Given the description of an element on the screen output the (x, y) to click on. 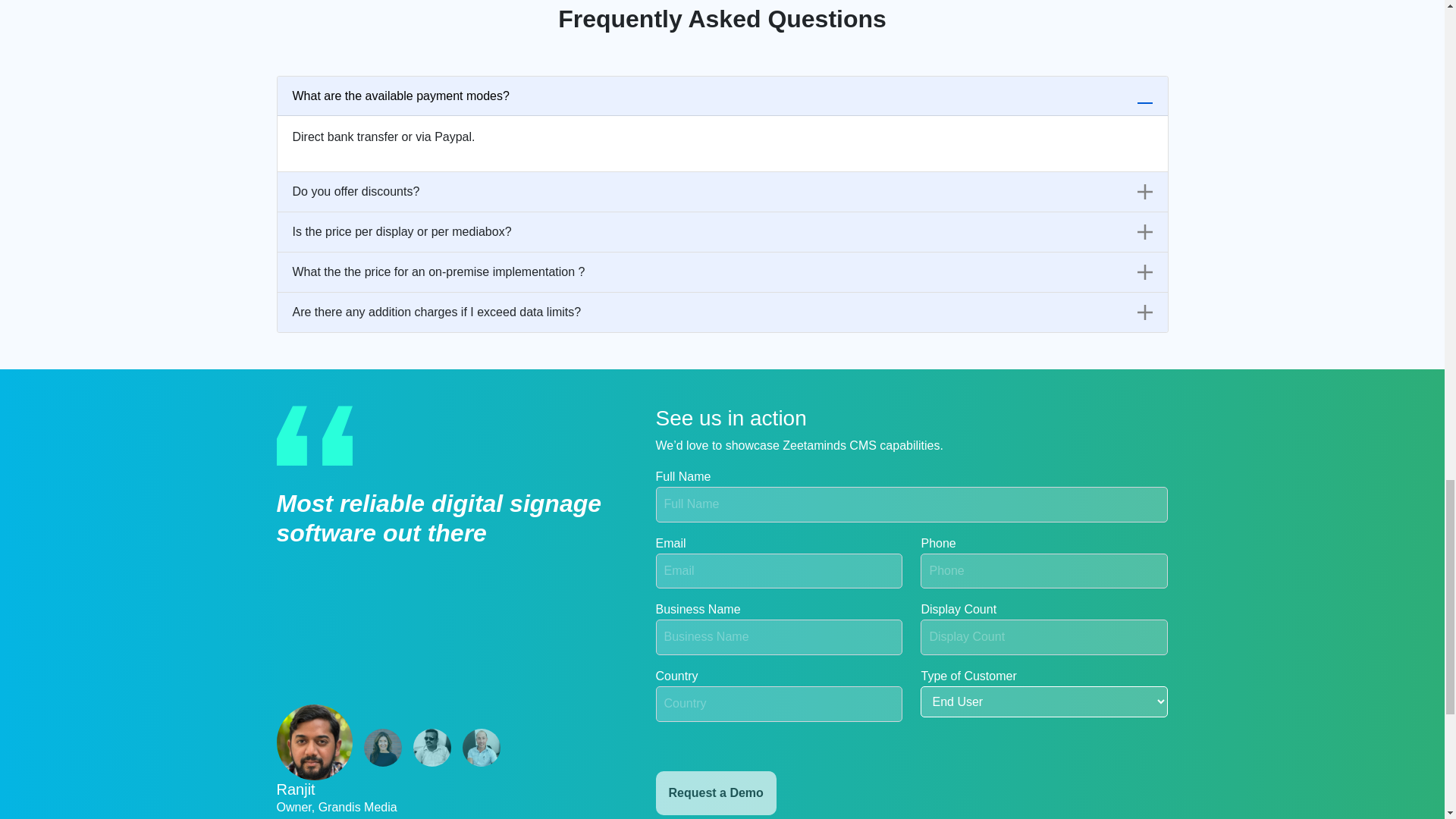
What the the price for an on-premise implementation ? (722, 271)
Are there any addition charges if I exceed data limits? (722, 312)
Do you offer discounts? (722, 191)
Request a Demo (715, 792)
What are the available payment modes? (722, 96)
Is the price per display or per mediabox? (722, 231)
